Given the description of an element on the screen output the (x, y) to click on. 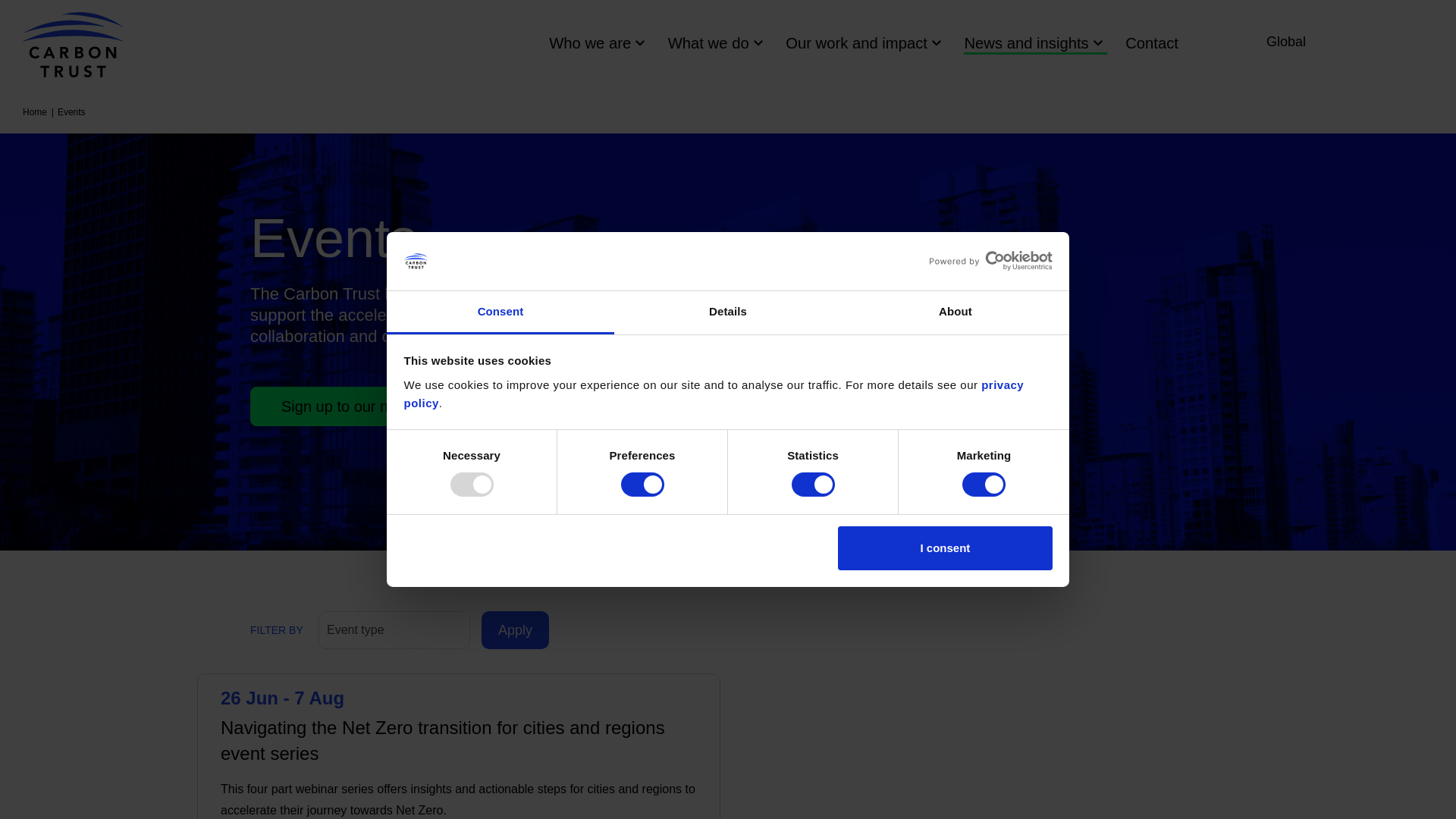
privacy policy (713, 393)
Apply (514, 629)
About (954, 312)
Consent (500, 312)
Details (727, 312)
